Given the description of an element on the screen output the (x, y) to click on. 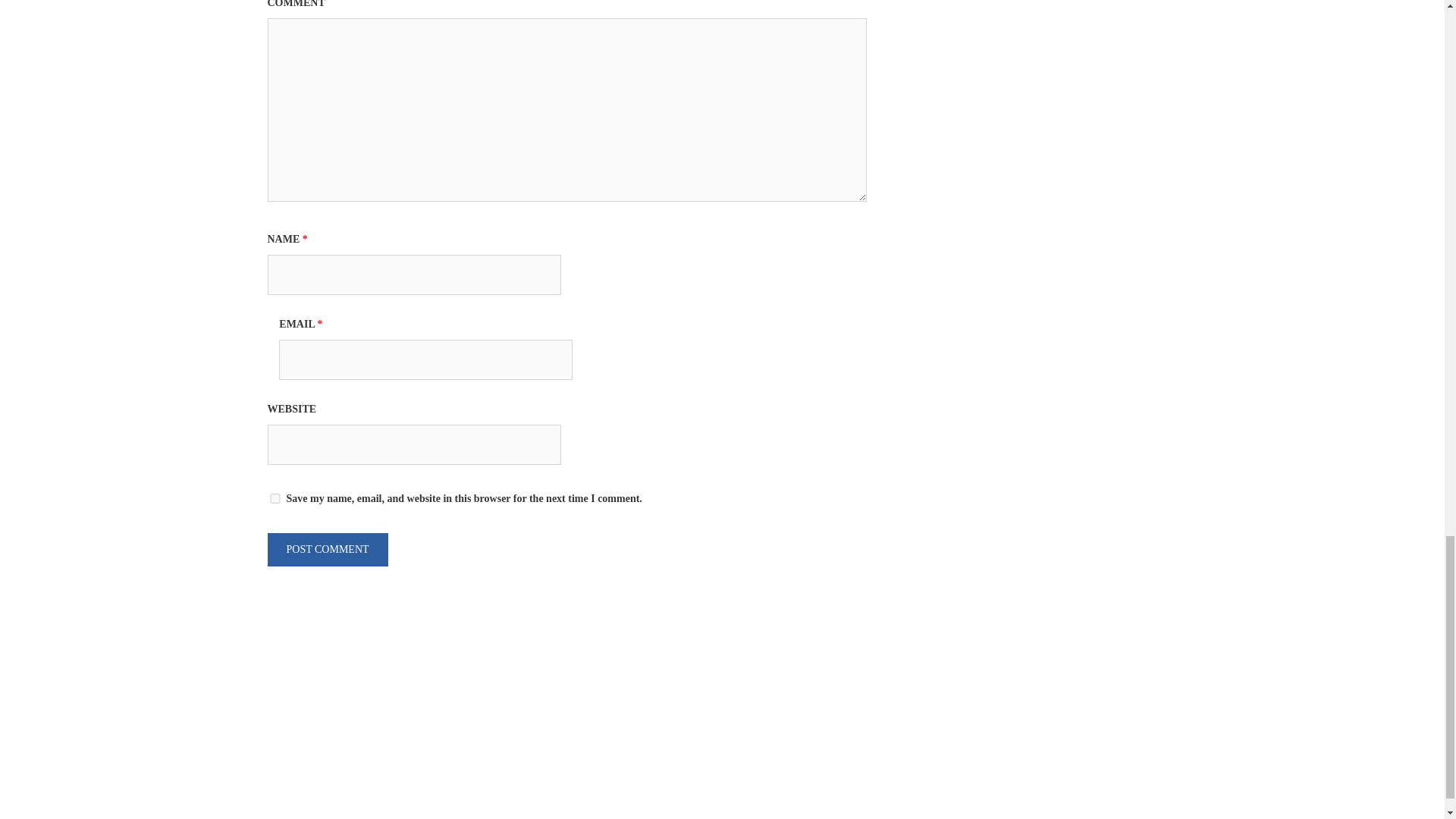
Post Comment (326, 549)
Post Comment (326, 549)
yes (274, 498)
